Given the description of an element on the screen output the (x, y) to click on. 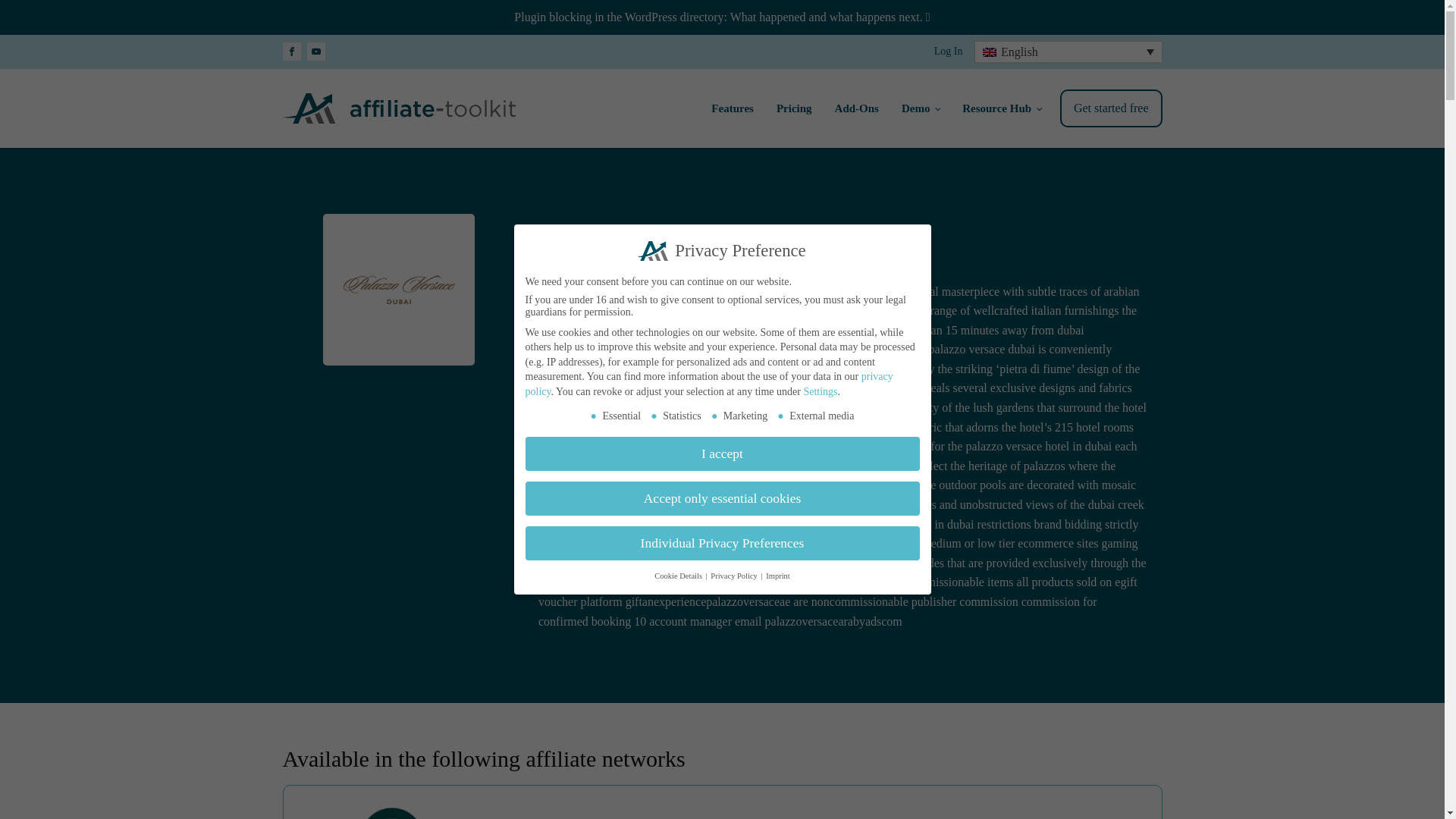
Sport (771, 259)
Luxus (699, 259)
Musik (736, 259)
Hotel (664, 259)
Get started free (1110, 108)
Add-Ons (856, 108)
E-Commerce (570, 259)
Resource Hub (1001, 108)
Open Cookie Preferences (32, 799)
English (1067, 51)
